Given the description of an element on the screen output the (x, y) to click on. 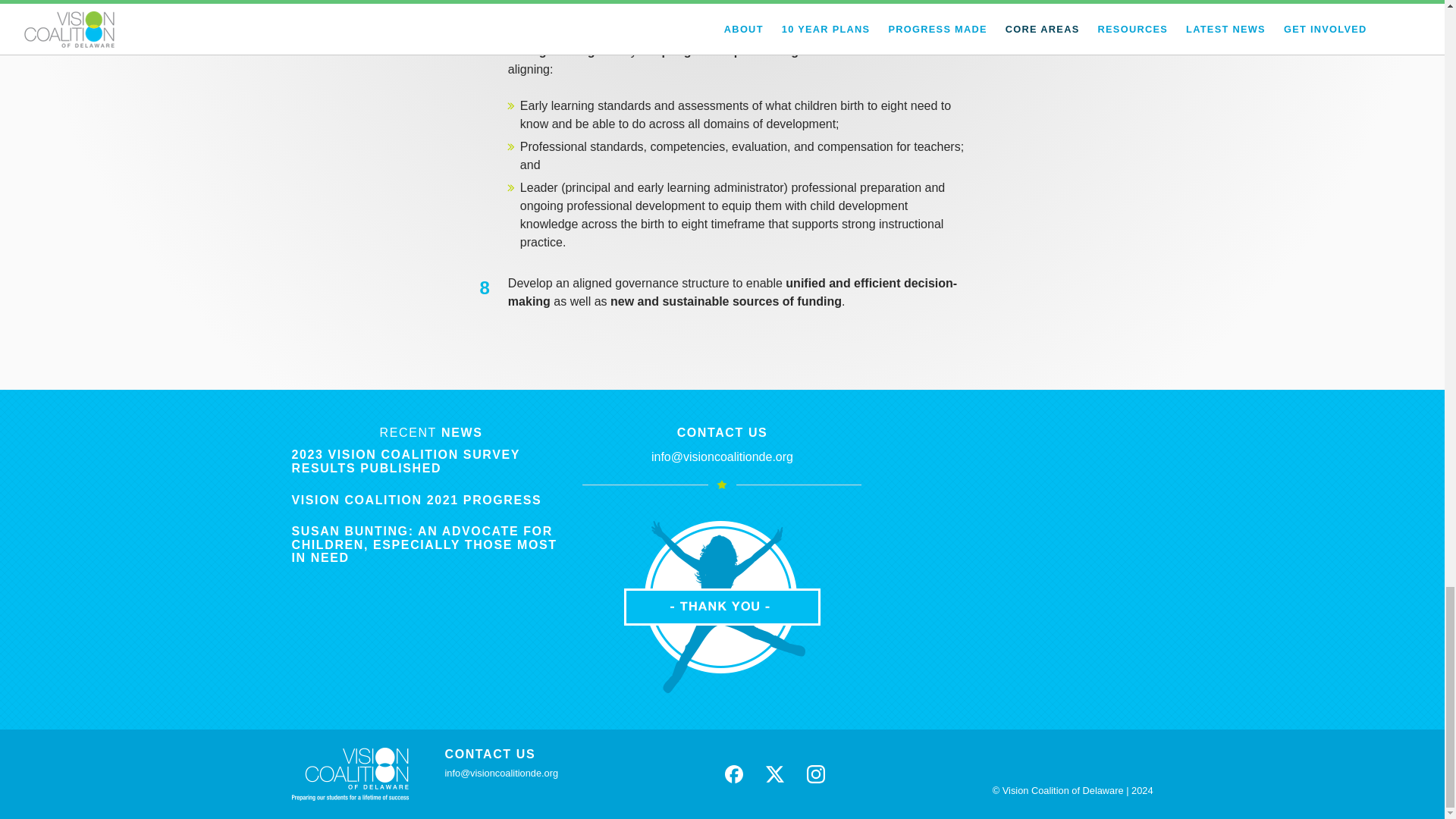
2023 VISION COALITION SURVEY RESULTS PUBLISHED (405, 461)
VISION COALITION 2021 PROGRESS (416, 499)
